Given the description of an element on the screen output the (x, y) to click on. 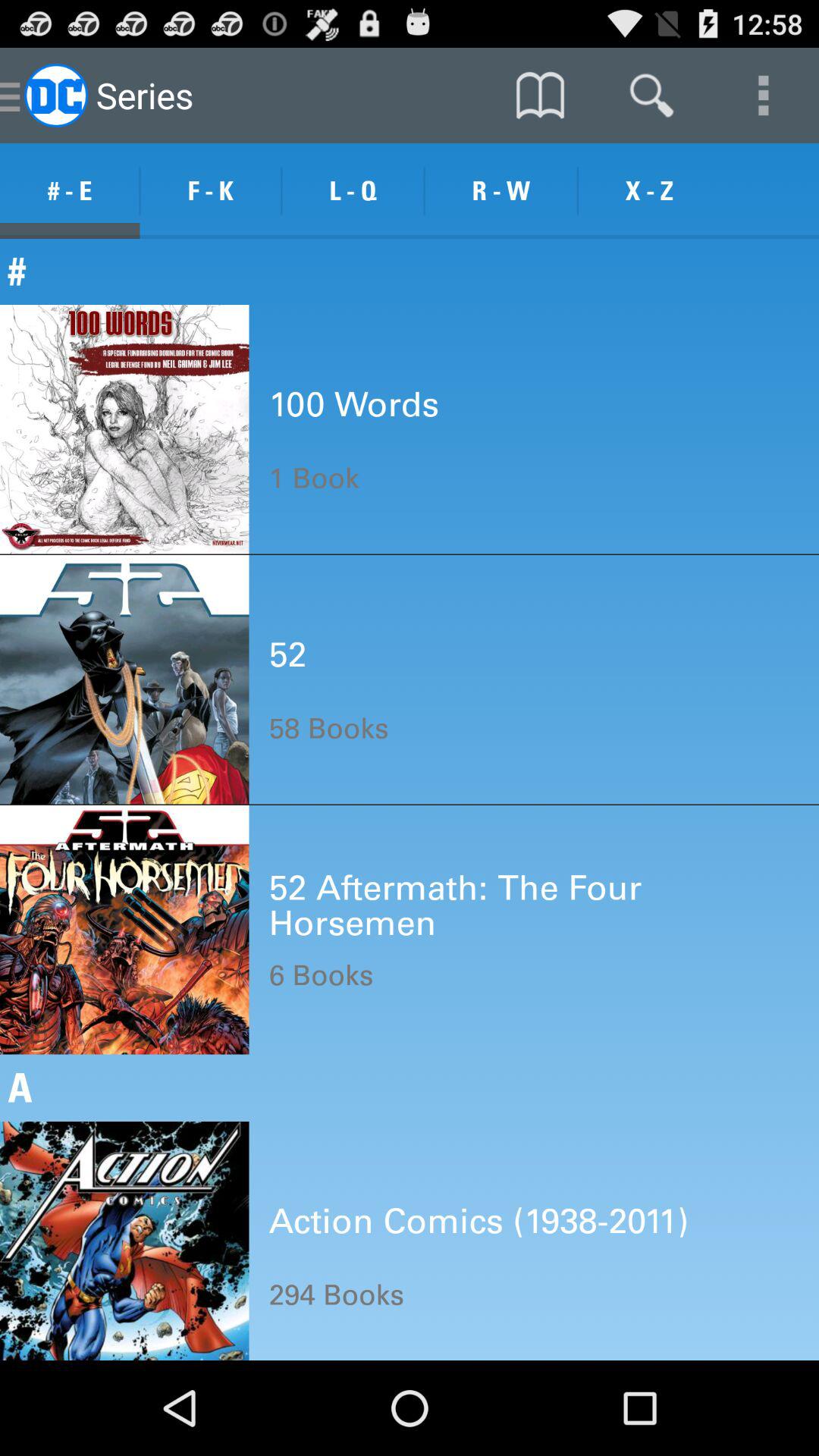
flip until 52 aftermath the item (534, 904)
